Given the description of an element on the screen output the (x, y) to click on. 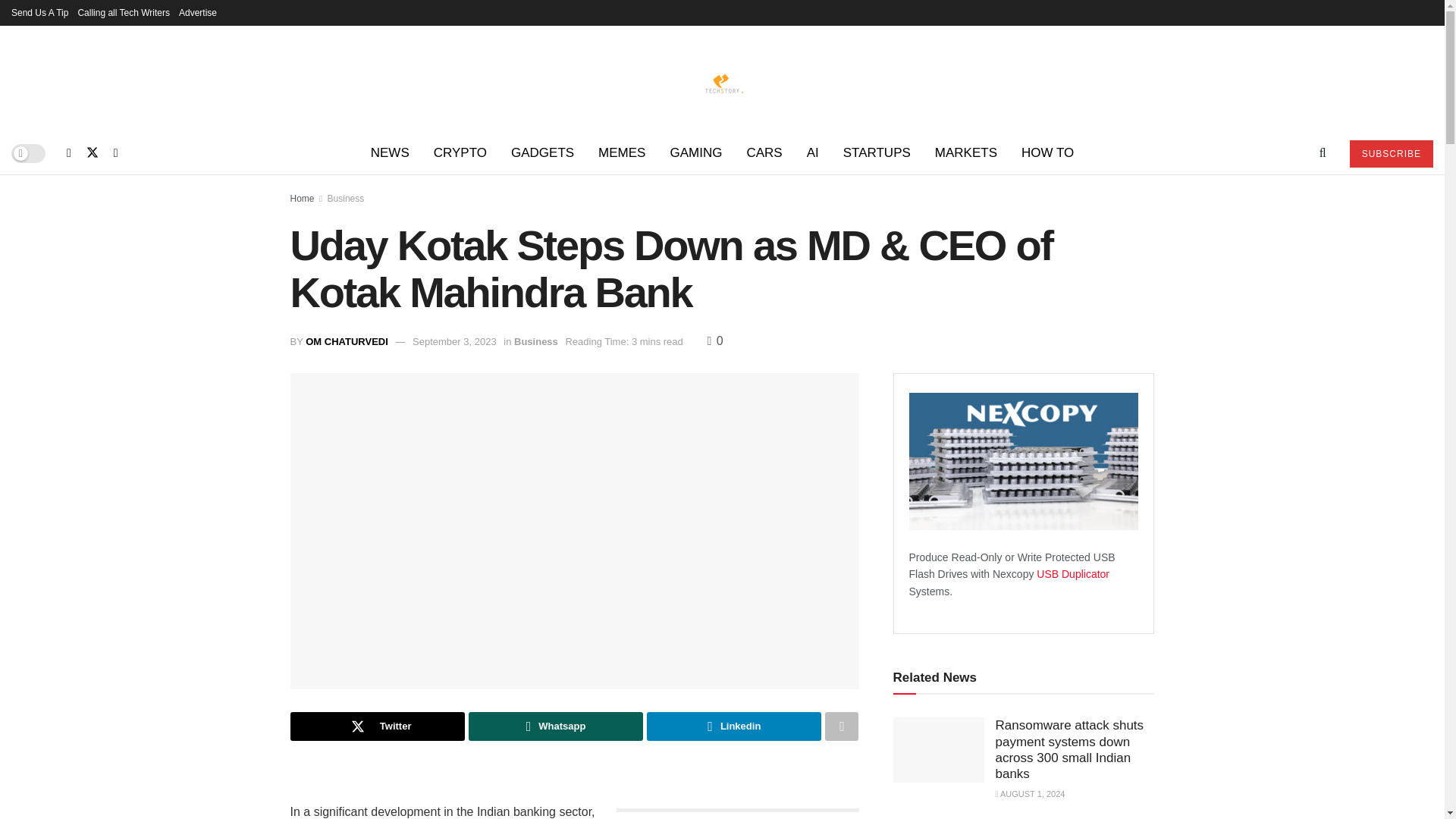
MEMES (622, 152)
MARKETS (966, 152)
Advertise (197, 12)
CRYPTO (460, 152)
Calling all Tech Writers (123, 12)
SUBSCRIBE (1390, 153)
STARTUPS (877, 152)
Home (301, 198)
Send Us A Tip (39, 12)
CARS (763, 152)
USB duplicator (1072, 573)
GADGETS (542, 152)
GAMING (695, 152)
NEWS (390, 152)
Business (346, 198)
